Given the description of an element on the screen output the (x, y) to click on. 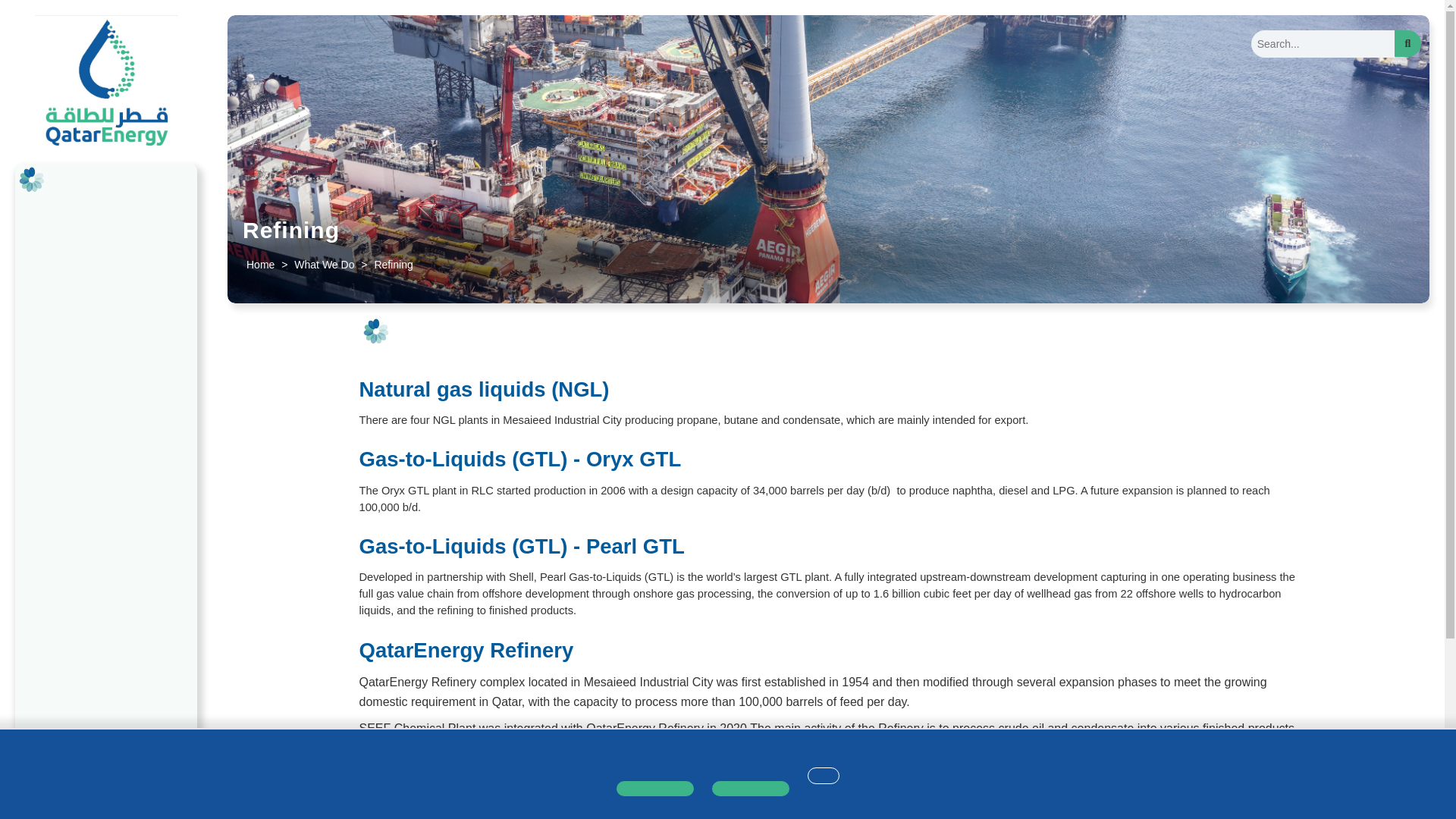
Search... (1322, 43)
QatarEnergy (105, 83)
Search... (1322, 43)
What We Do (323, 264)
Home (260, 264)
Search (1407, 43)
